Given the description of an element on the screen output the (x, y) to click on. 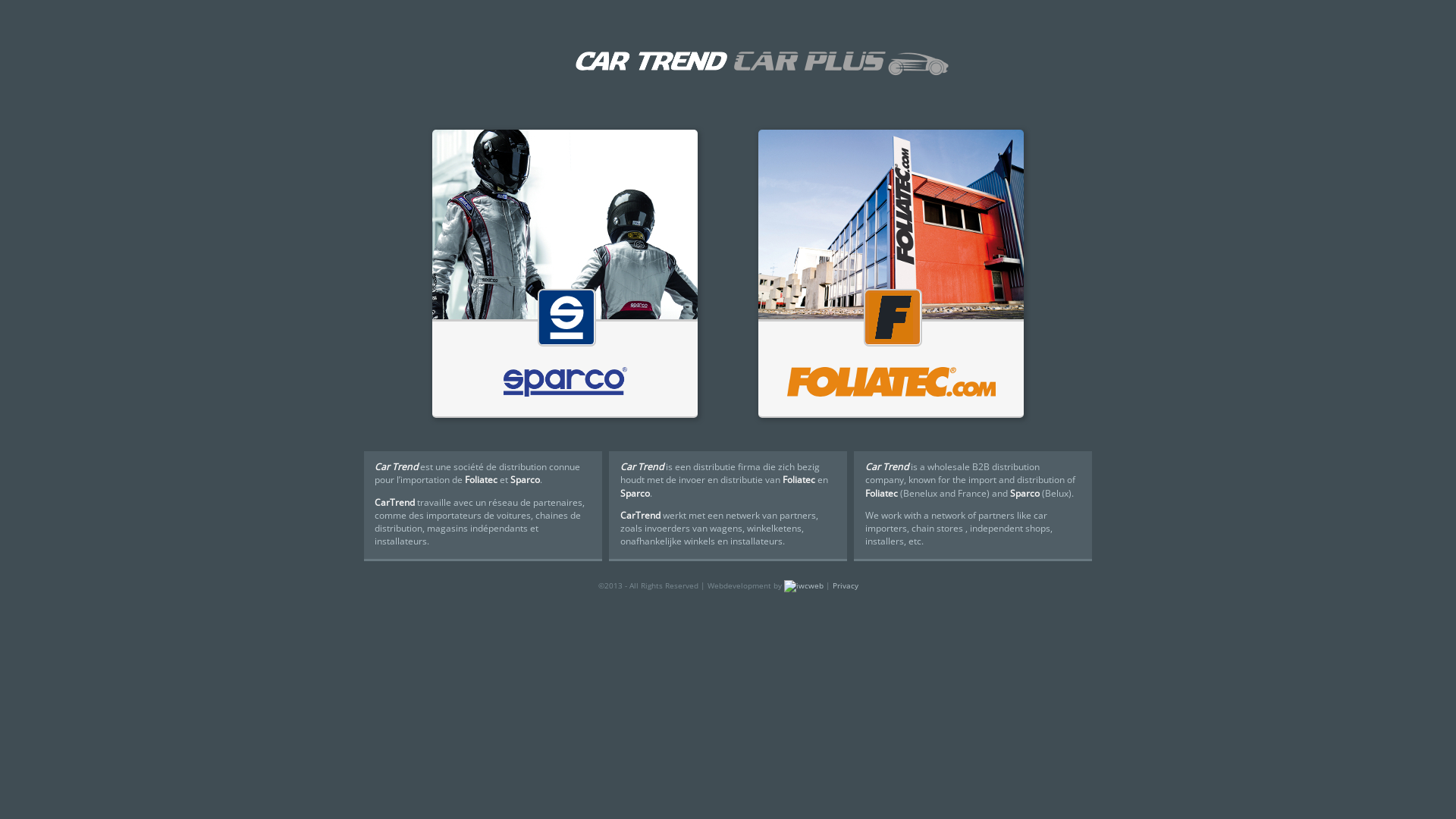
Privacy Element type: text (845, 585)
